Given the description of an element on the screen output the (x, y) to click on. 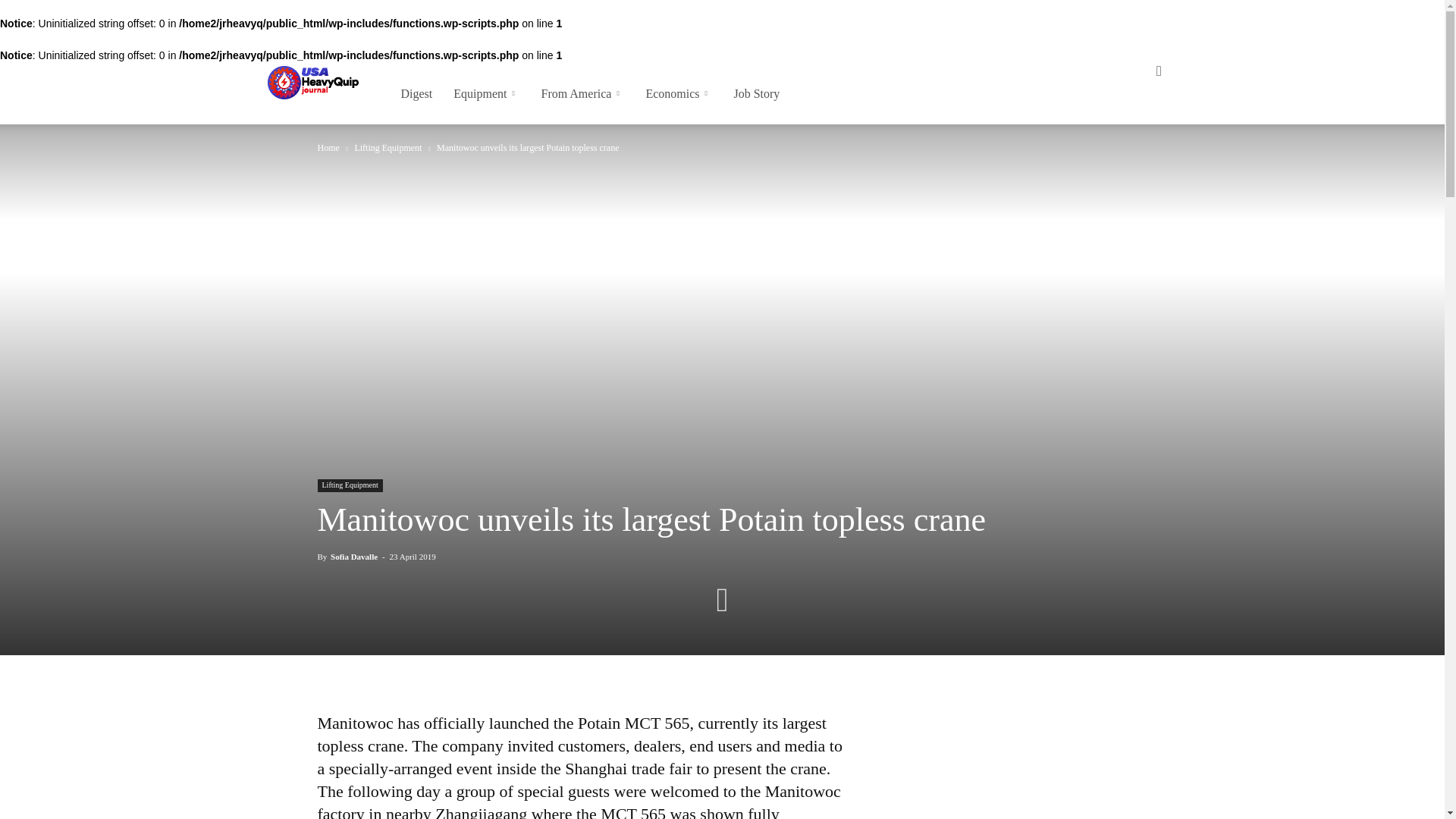
Search (1134, 120)
Heavy Equpiment USA (312, 82)
USA HeavyQuip Journal (312, 82)
Equipment (485, 93)
View all posts in Lifting Equipment (387, 147)
